Given the description of an element on the screen output the (x, y) to click on. 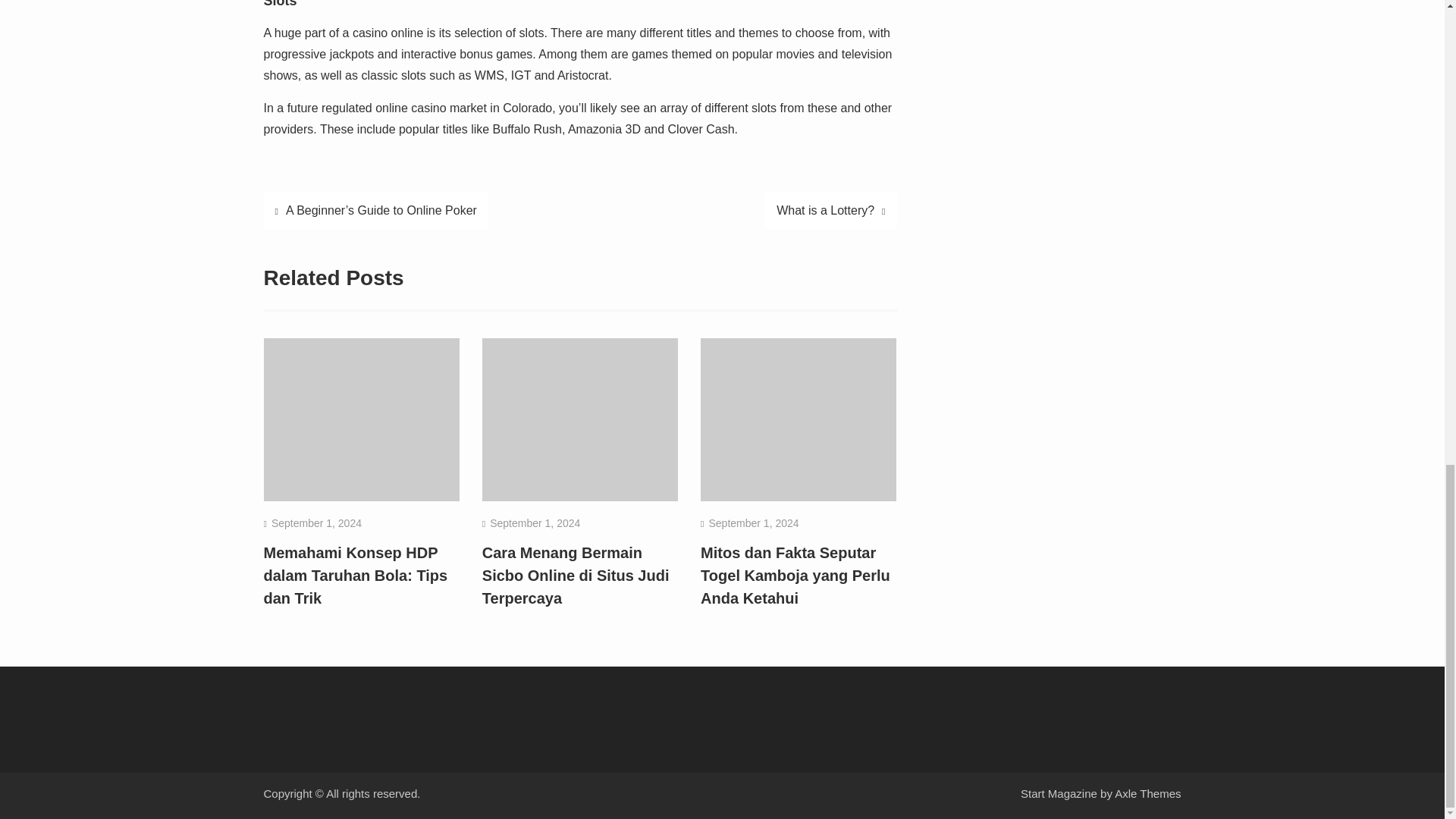
What is a Lottery? (830, 210)
Axle Themes (1147, 793)
Memahami Konsep HDP dalam Taruhan Bola: Tips dan Trik (355, 575)
Cara Menang Bermain Sicbo Online di Situs Judi Terpercaya (575, 575)
